Given the description of an element on the screen output the (x, y) to click on. 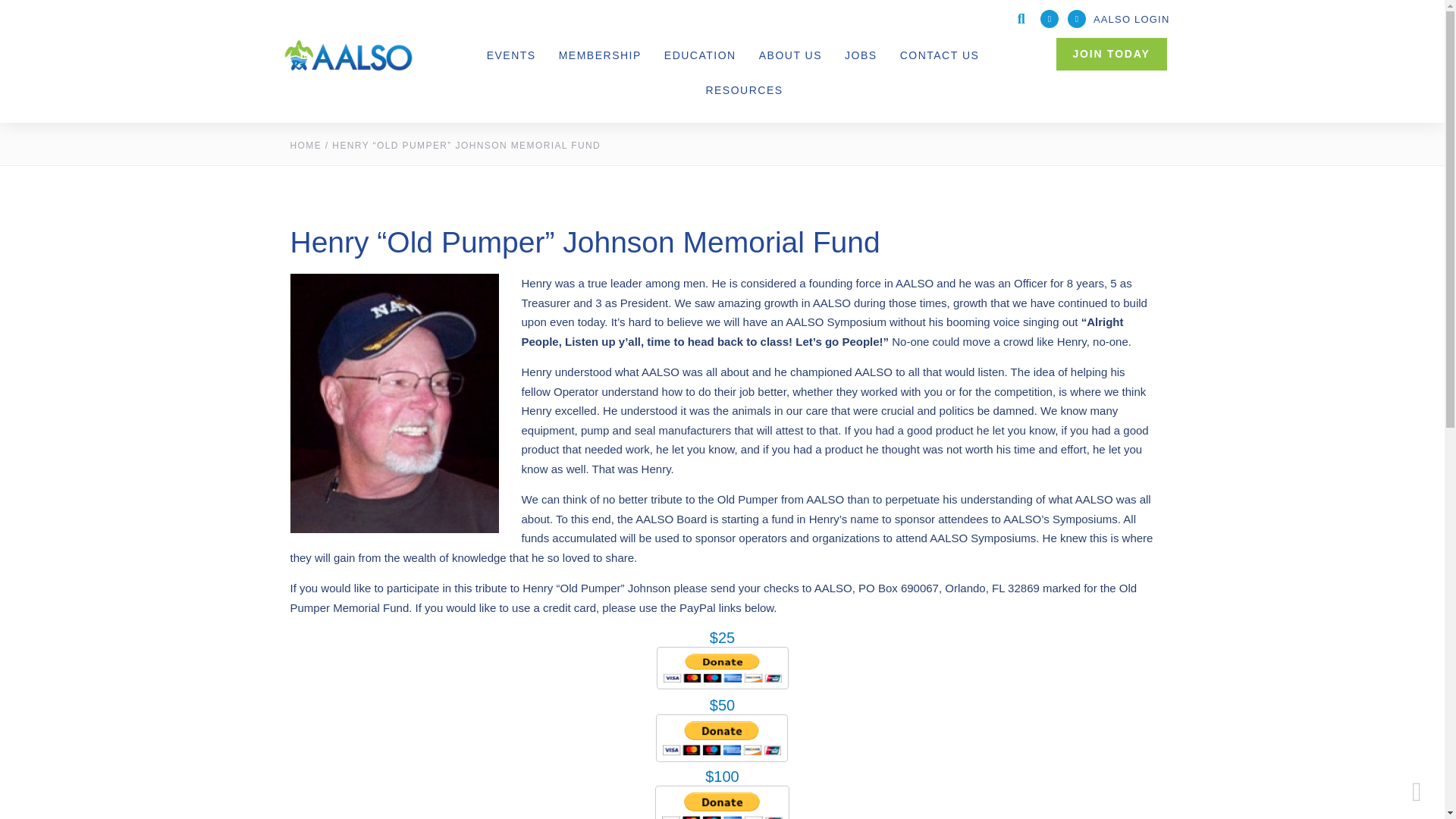
JOBS (860, 54)
JOIN TODAY (1112, 53)
EVENTS (510, 54)
AALSO LOGIN (1131, 19)
ABOUT US (790, 54)
HOME (305, 145)
RESOURCES (743, 89)
EDUCATION (699, 54)
CONTACT US (939, 54)
MEMBERSHIP (600, 54)
